Given the description of an element on the screen output the (x, y) to click on. 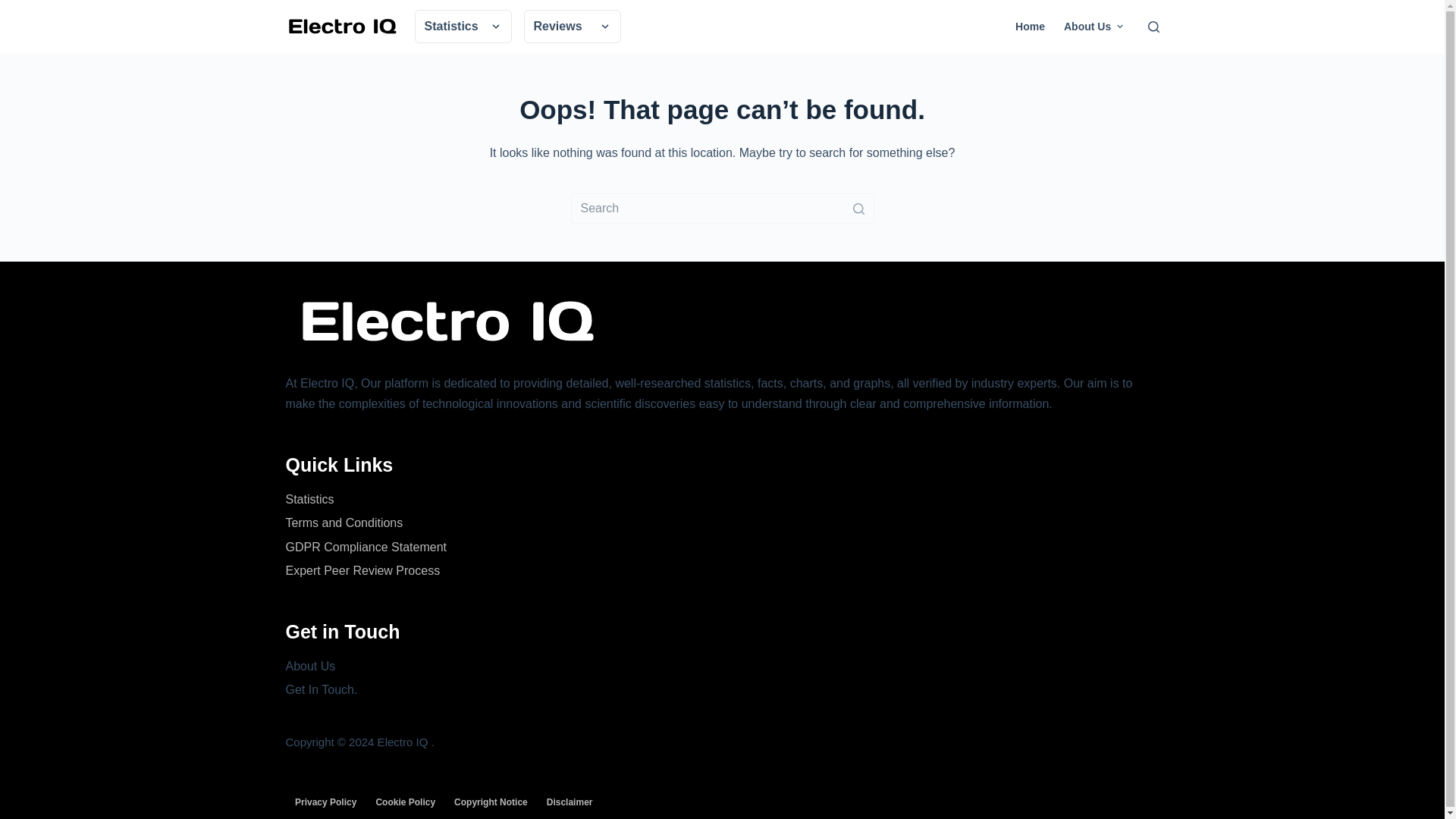
Microchip Statistics (760, 55)
Reviews (571, 26)
Biometric Statistics (759, 55)
Skip to content (15, 7)
About Us (1093, 26)
Acer Statistics (748, 55)
Wearable Technology Statistics (785, 55)
Home (1030, 26)
Big Data Statistics (756, 55)
Statistics (462, 26)
